Given the description of an element on the screen output the (x, y) to click on. 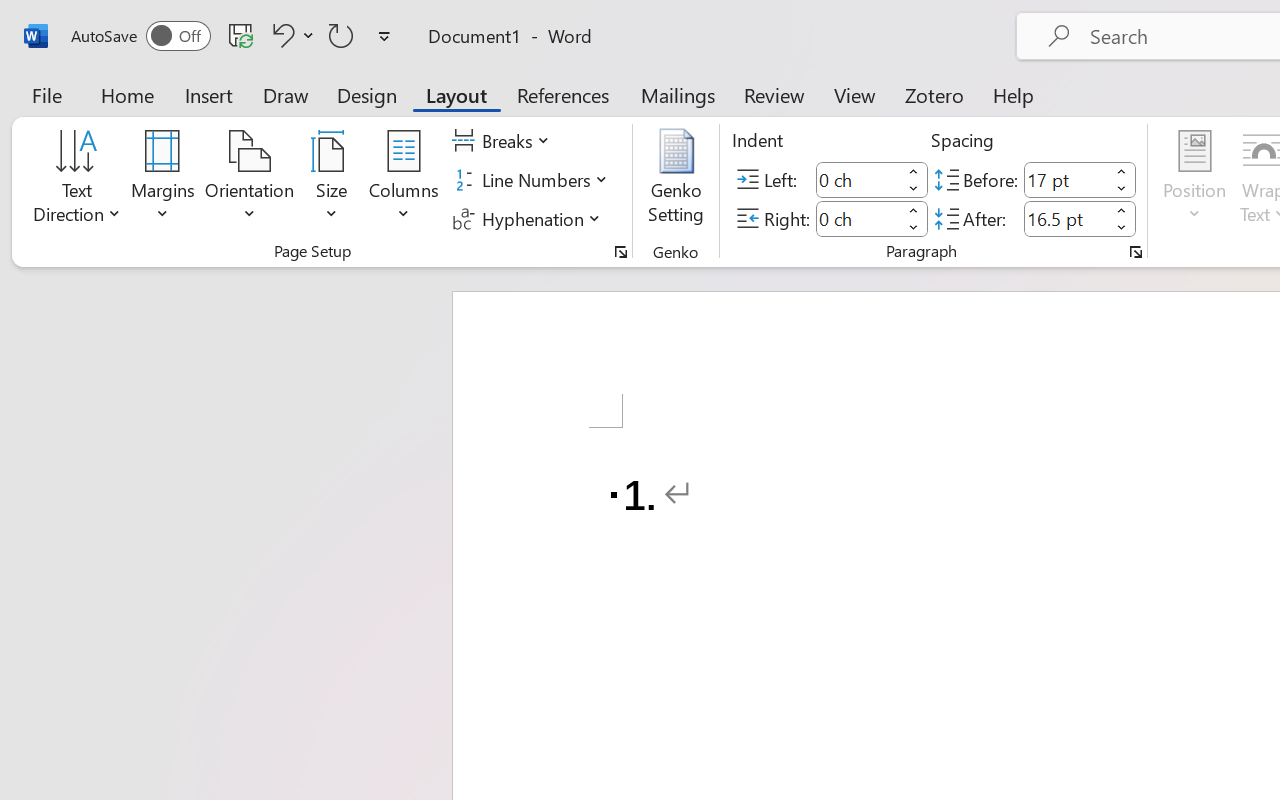
Hyphenation (529, 218)
Less (1121, 227)
Spacing Before (1066, 179)
Size (331, 179)
Undo Number Default (280, 35)
Text Direction (77, 179)
Page Setup... (621, 252)
Undo Number Default (290, 35)
Breaks (504, 141)
More (1121, 210)
